Given the description of an element on the screen output the (x, y) to click on. 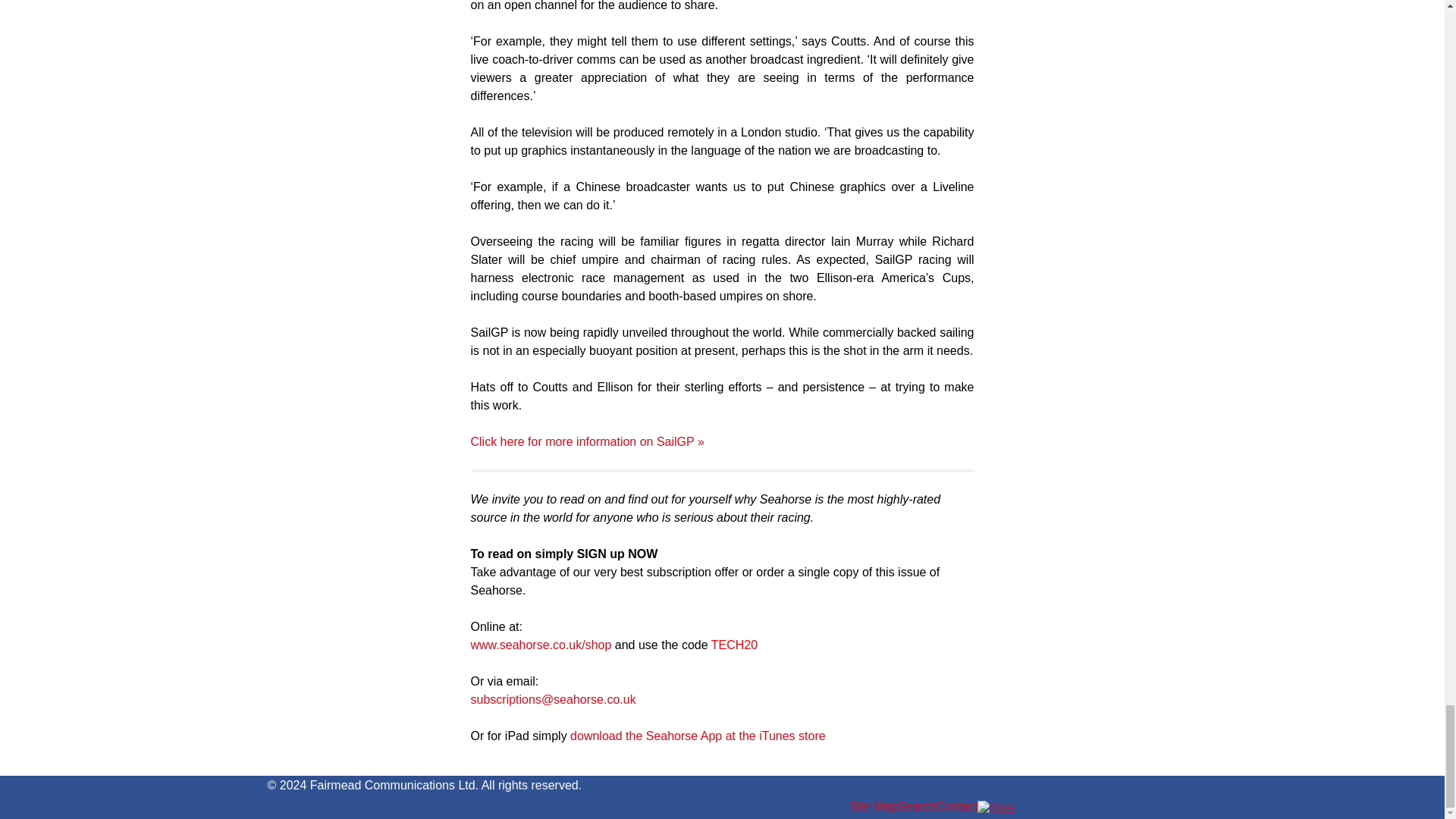
download the Seahorse App at the iTunes store (697, 735)
Contact (956, 806)
Site Map (872, 806)
Search (917, 806)
